Given the description of an element on the screen output the (x, y) to click on. 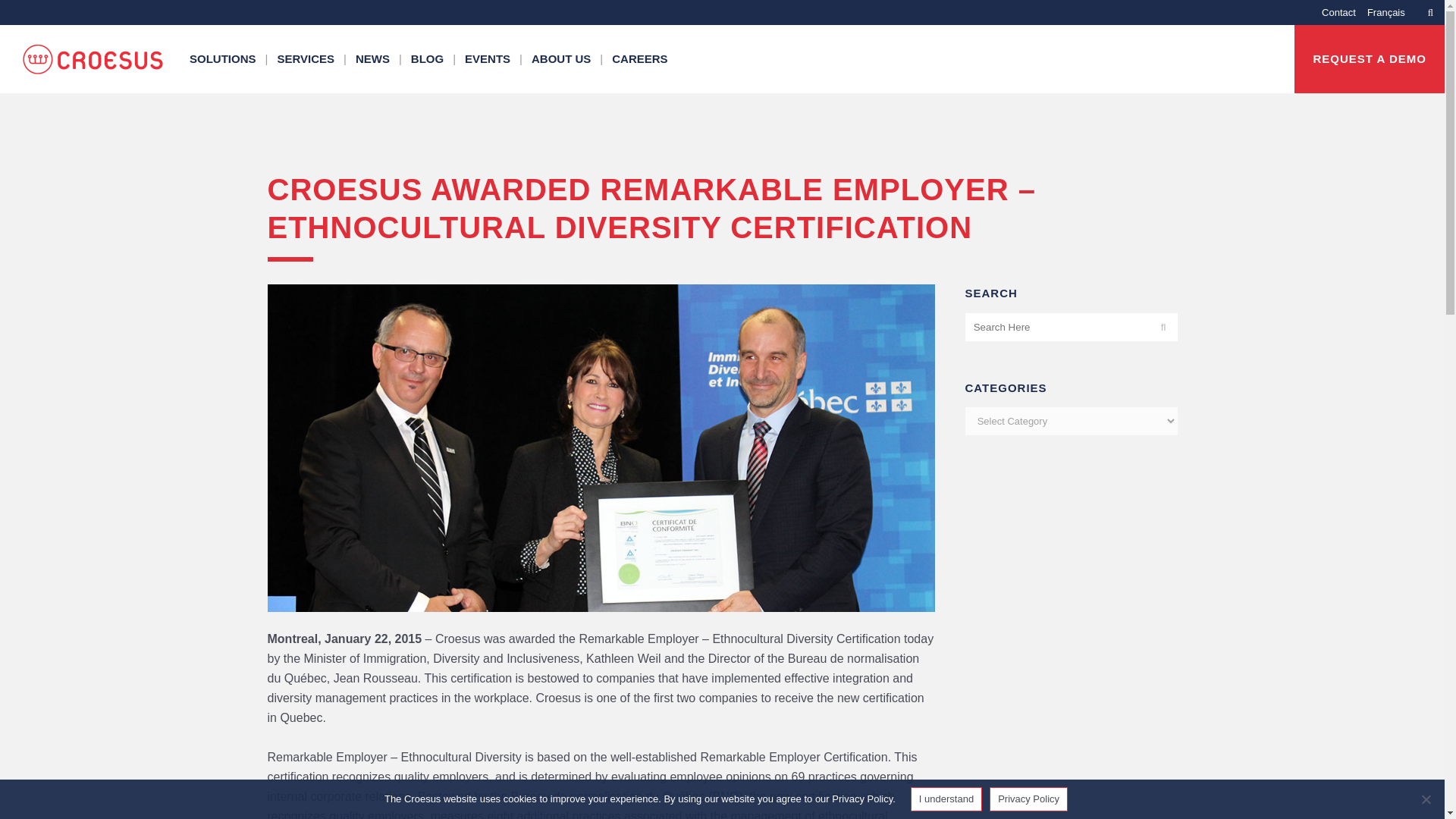
EVENTS (489, 59)
ABOUT US (562, 59)
SERVICES (307, 59)
SOLUTIONS (224, 59)
Contact (1332, 12)
Non (1425, 798)
